Given the description of an element on the screen output the (x, y) to click on. 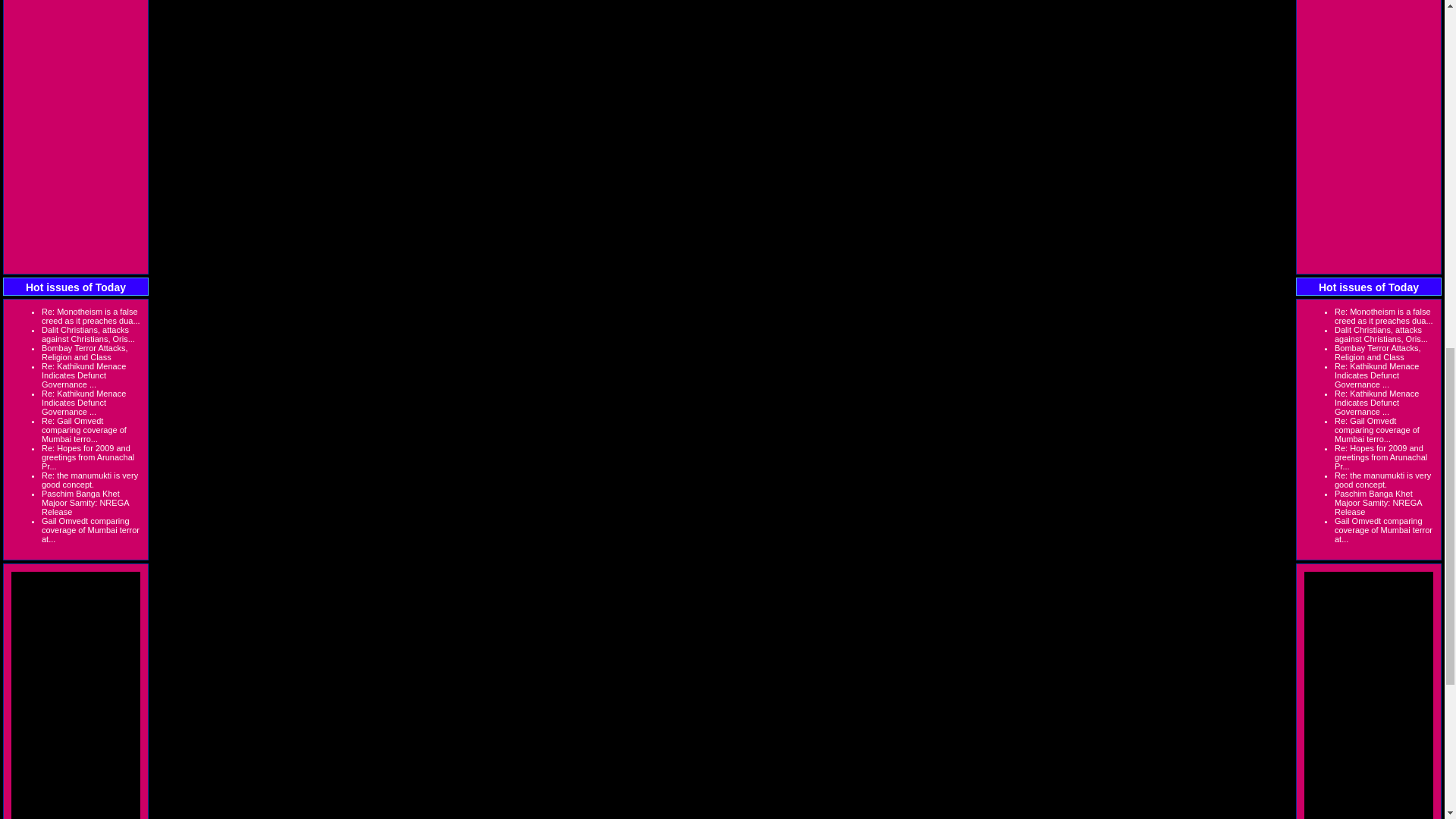
Re: the manumukti is very good concept. (90, 479)
Dalit Christians, attacks against Christians, Oris... (88, 334)
Re: Kathikund Menace Indicates Defunct Governance ... (83, 402)
Re: Monotheism is a false creed as it preaches dua... (90, 316)
Re: Kathikund Menace Indicates Defunct Governance ... (83, 375)
Paschim Banga Khet Majoor Samity: NREGA Release (85, 502)
Re: Hopes for 2009 and greetings from Arunachal Pr... (87, 456)
Gail Omvedt comparing coverage of Mumbai terror at... (90, 529)
Re: Gail Omvedt comparing coverage of Mumbai terro... (84, 429)
Bombay Terror Attacks, Religion and Class (85, 352)
